Given the description of an element on the screen output the (x, y) to click on. 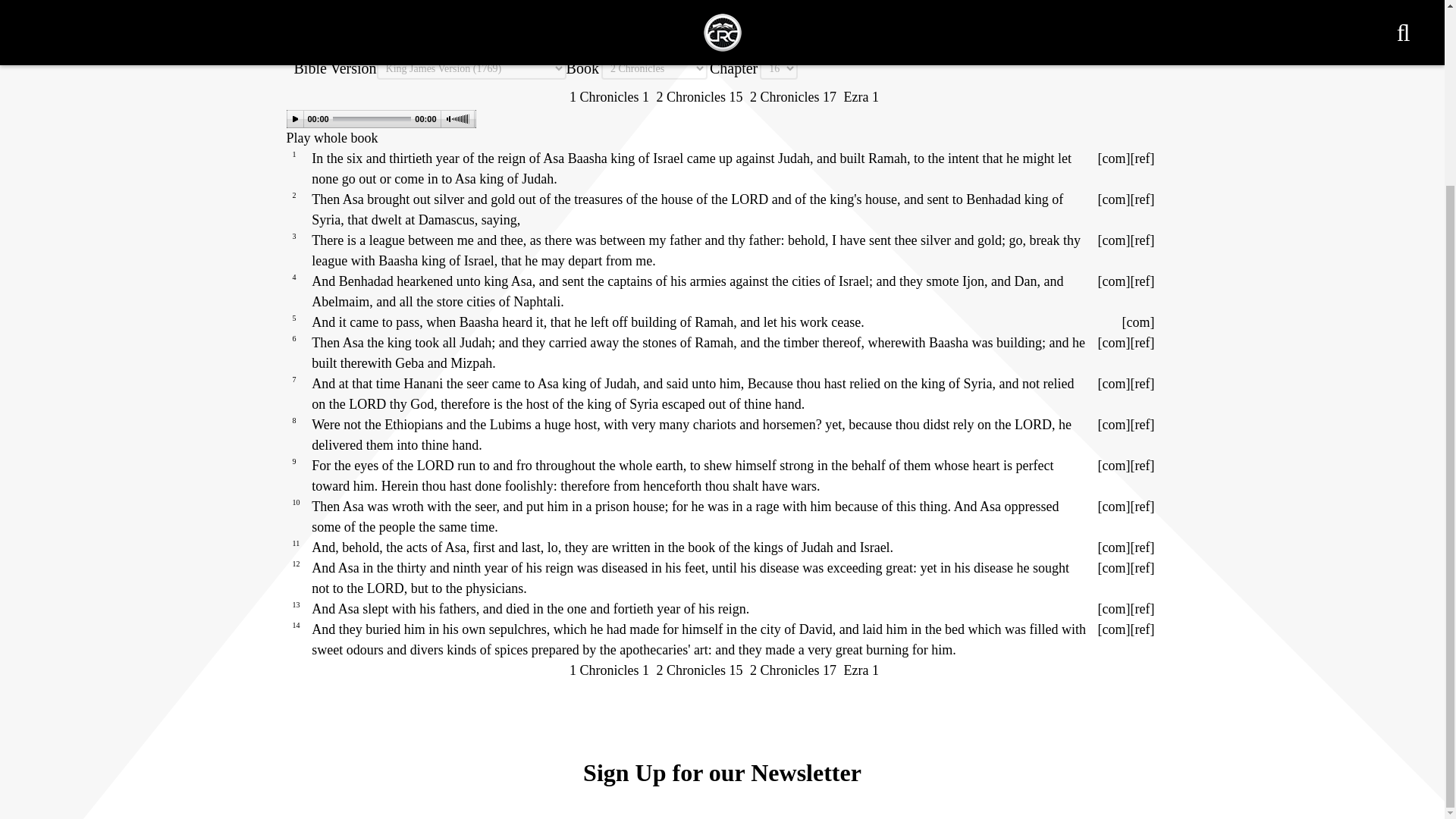
Go to previous book (609, 96)
Click to read  (1142, 465)
Click to Subscribe (1126, 29)
Click to read  (1142, 506)
Click to view RSS Feed (1146, 29)
Click to read  (1142, 383)
Click to read  (1142, 424)
Go to previous chapter (699, 96)
Click to read  (1142, 240)
Go to next book (861, 96)
Click to read  (1142, 547)
Click to read  (1142, 158)
Go to next chapter (792, 96)
Click to read  (1142, 281)
Click to read  (1142, 199)
